Given the description of an element on the screen output the (x, y) to click on. 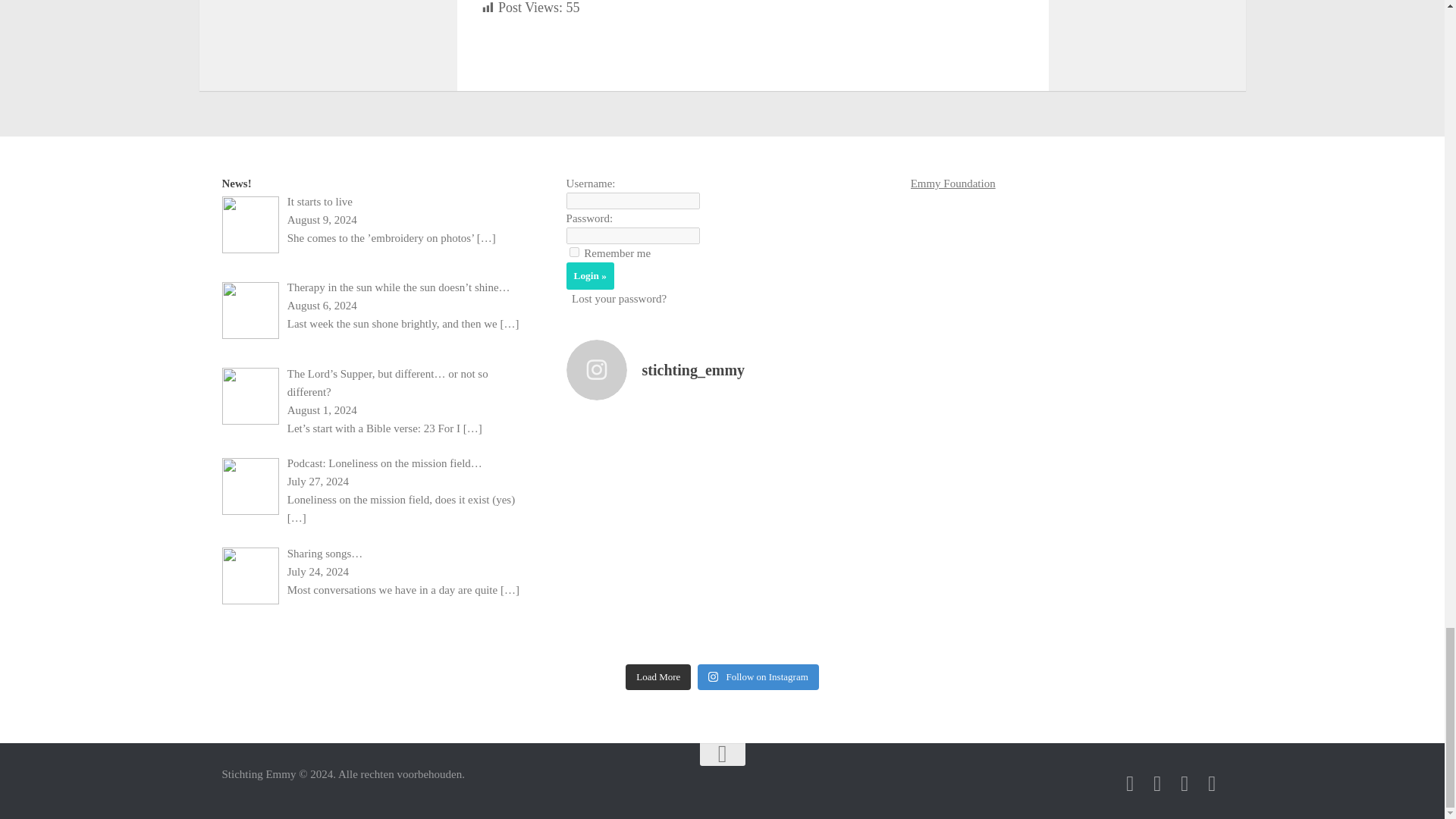
Password Lost and Found (619, 298)
Volg ons op Facebook (1129, 783)
forever (574, 252)
Volg ons op Instagram (1157, 783)
